Given the description of an element on the screen output the (x, y) to click on. 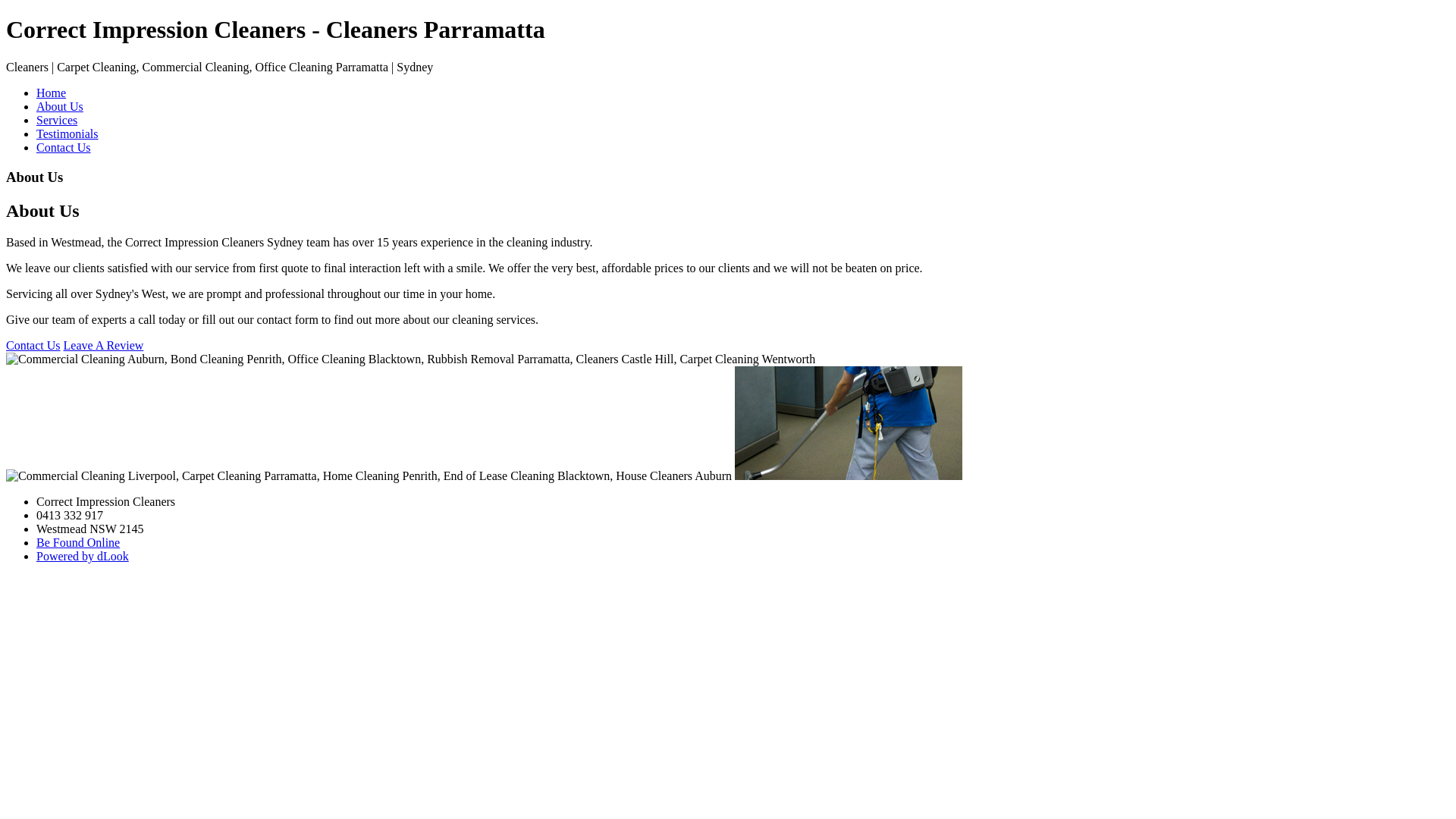
Powered by dLook Element type: text (82, 555)
Testimonials Element type: text (67, 133)
Commercial Cleaning Auburn Element type: hover (410, 359)
Leave A Review Element type: text (103, 344)
Commercial Cleaning Liverpool Element type: hover (368, 476)
Home Element type: text (50, 92)
Contact Us Element type: text (63, 147)
Commercial Cleaning Parramatta Element type: hover (848, 423)
Be Found Online Element type: text (77, 542)
Services Element type: text (56, 119)
Contact Us Element type: text (33, 344)
About Us Element type: text (59, 106)
